Given the description of an element on the screen output the (x, y) to click on. 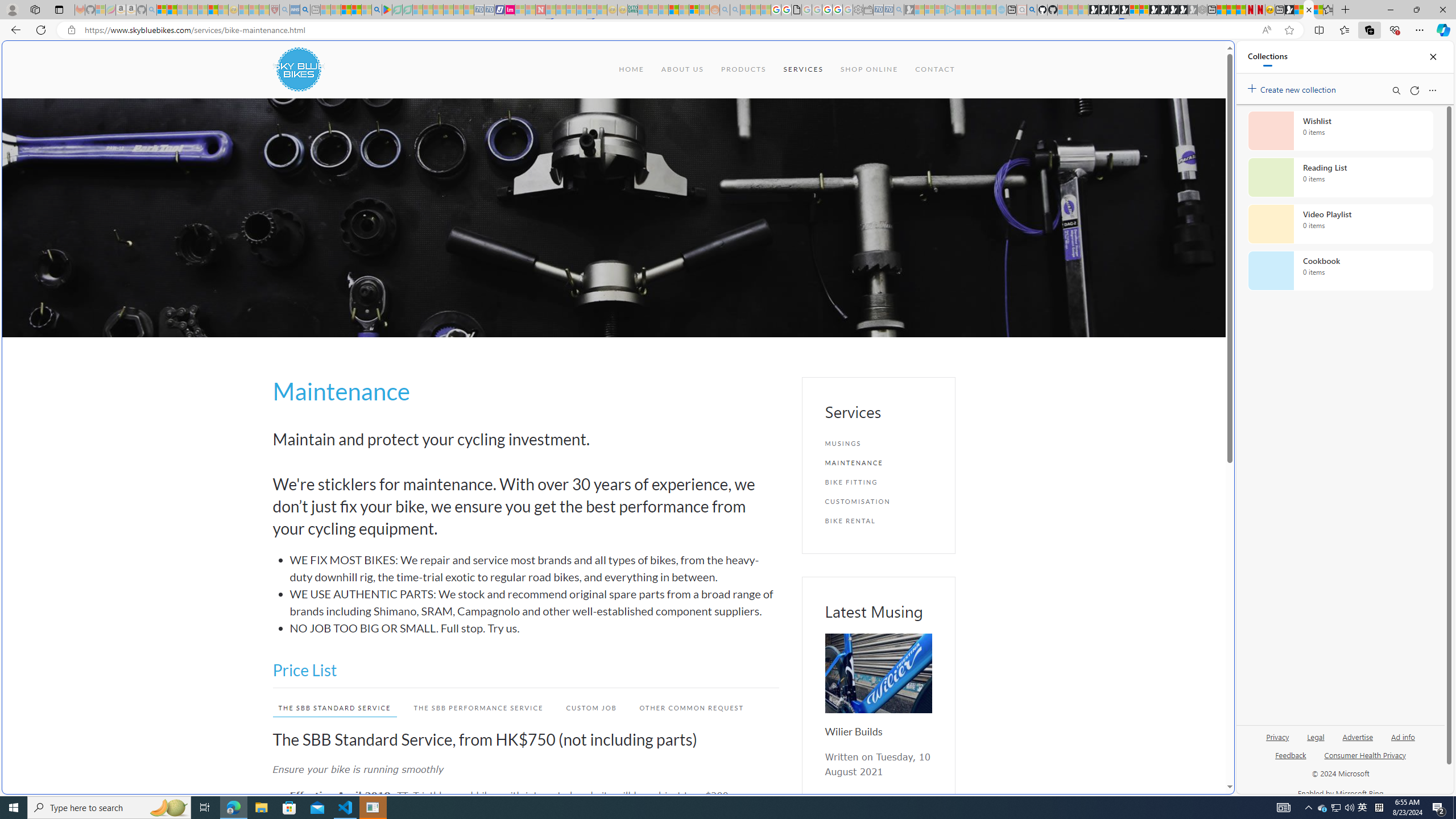
Personal Profile (12, 9)
Settings - Sleeping (857, 9)
Wilier Builds (877, 673)
Utah sues federal government - Search - Sleeping (735, 9)
Consumer Health Privacy (1364, 754)
THE SBB PERFORMANCE SERVICE (477, 707)
Add this page to favorites (Ctrl+D) (1289, 29)
Bluey: Let's Play! - Apps on Google Play (387, 9)
